Given the description of an element on the screen output the (x, y) to click on. 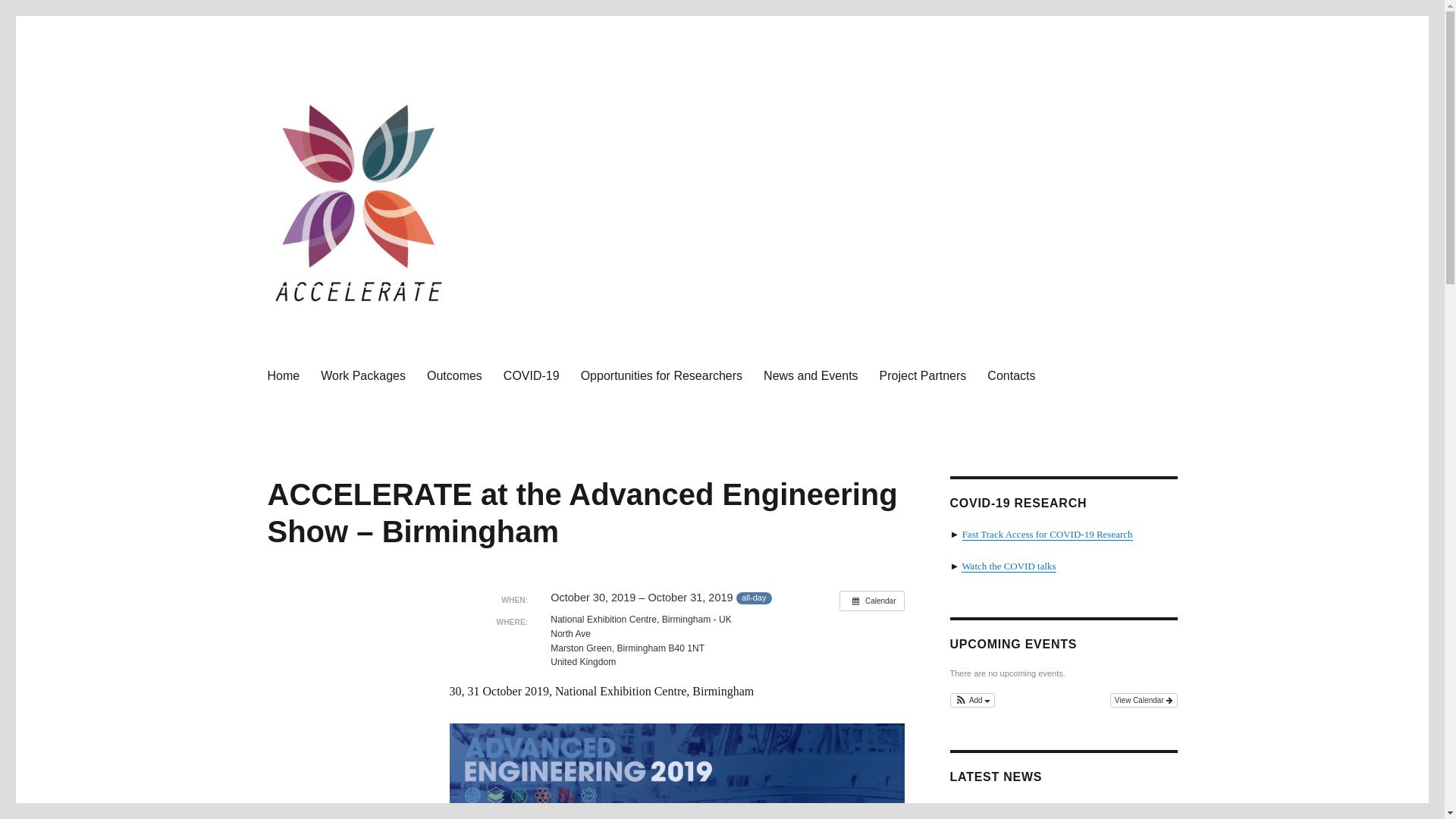
Watch the COVID talks (1007, 565)
Outcomes (454, 375)
Calendar (872, 600)
COVID-19 (531, 375)
Work Packages (363, 375)
Contacts (1010, 375)
Home (283, 375)
View Calendar (1143, 699)
Project Partners (922, 375)
News and Events (810, 375)
